Given the description of an element on the screen output the (x, y) to click on. 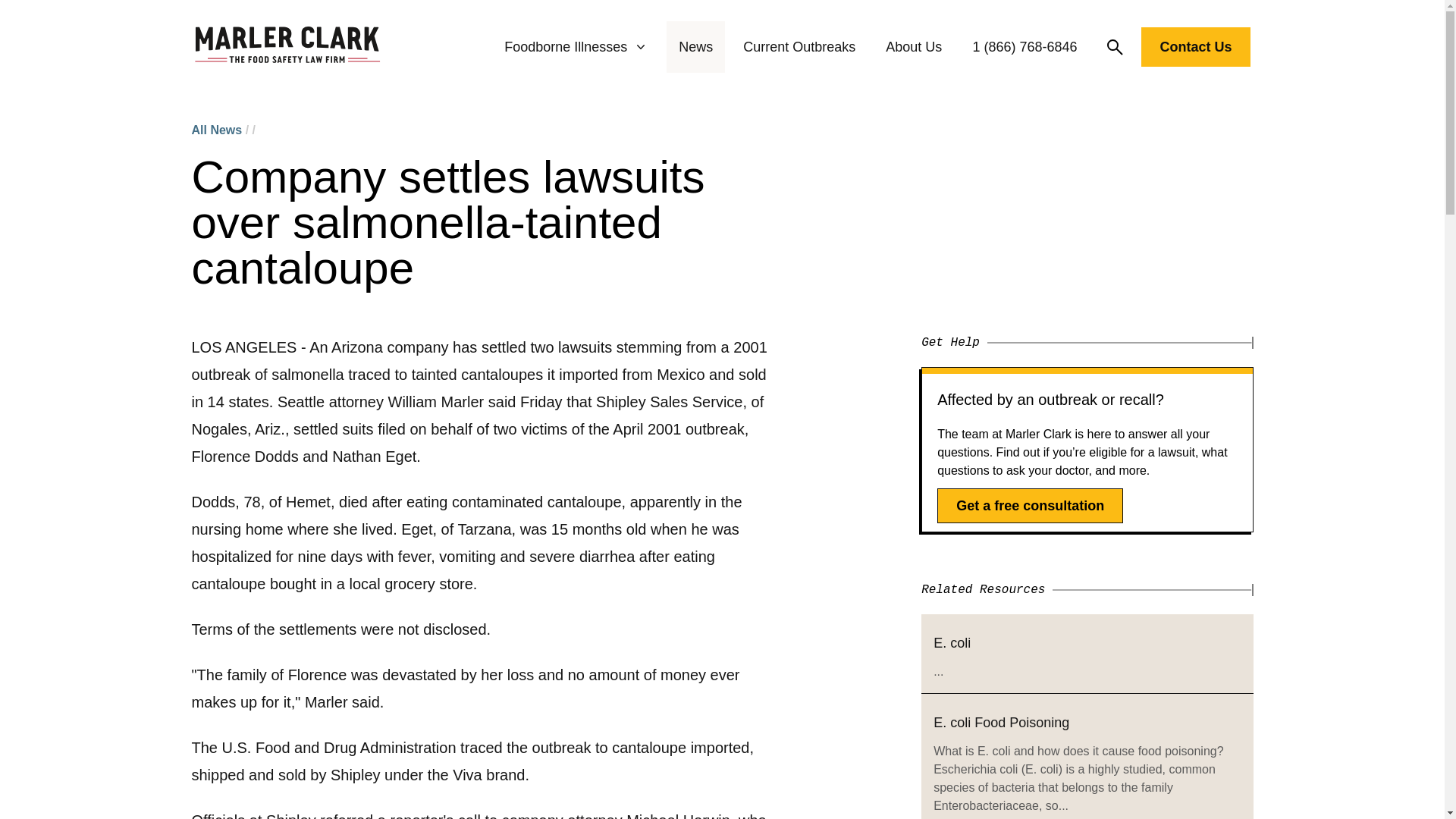
Marler Clark (286, 46)
Current Outbreaks (799, 46)
Contact Us (1195, 49)
All News (215, 129)
Foodborne Illnesses (576, 46)
About Us (913, 46)
Contact Us (1195, 46)
News (695, 46)
